Given the description of an element on the screen output the (x, y) to click on. 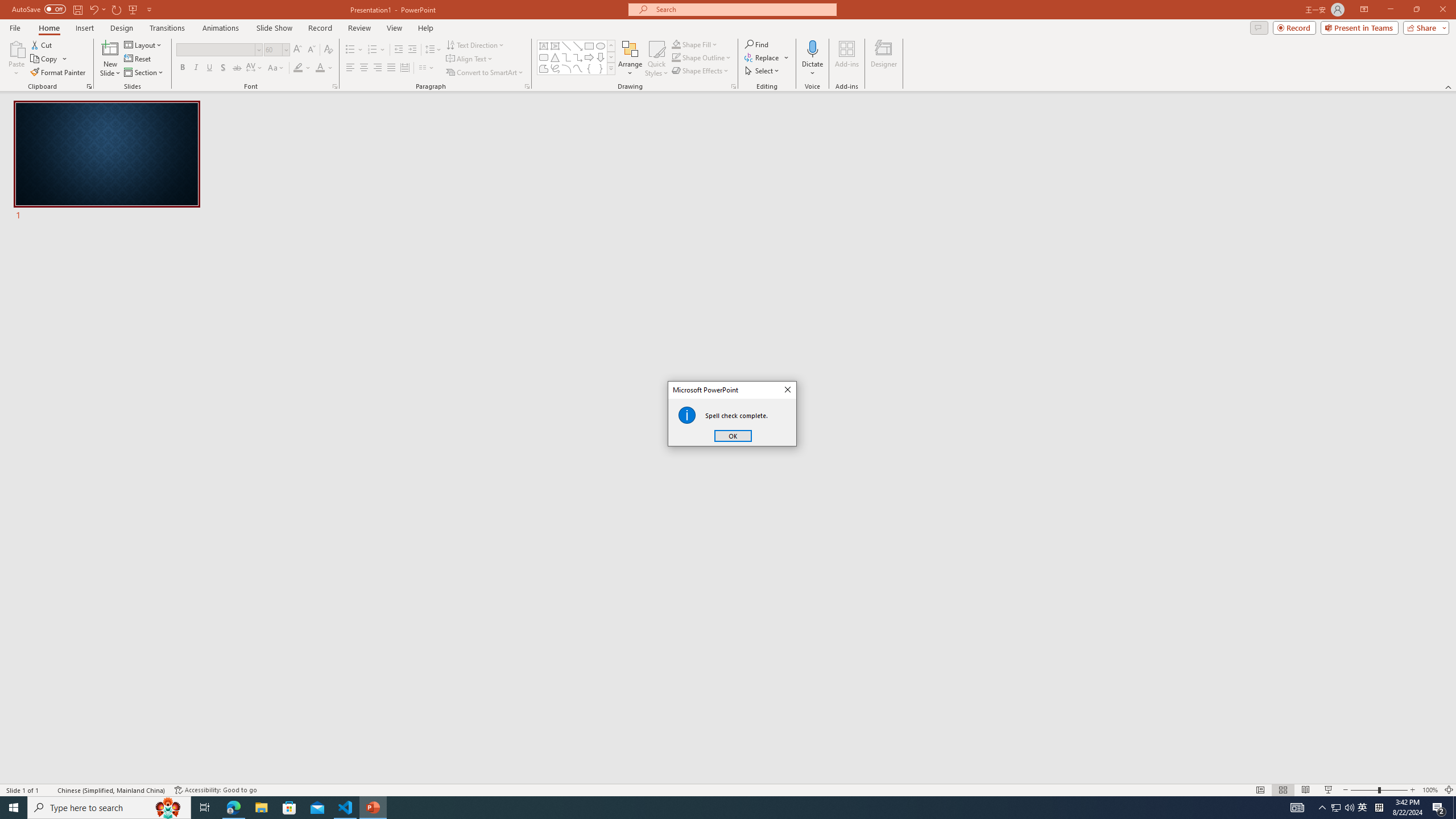
Zoom 100% (1430, 790)
